Given the description of an element on the screen output the (x, y) to click on. 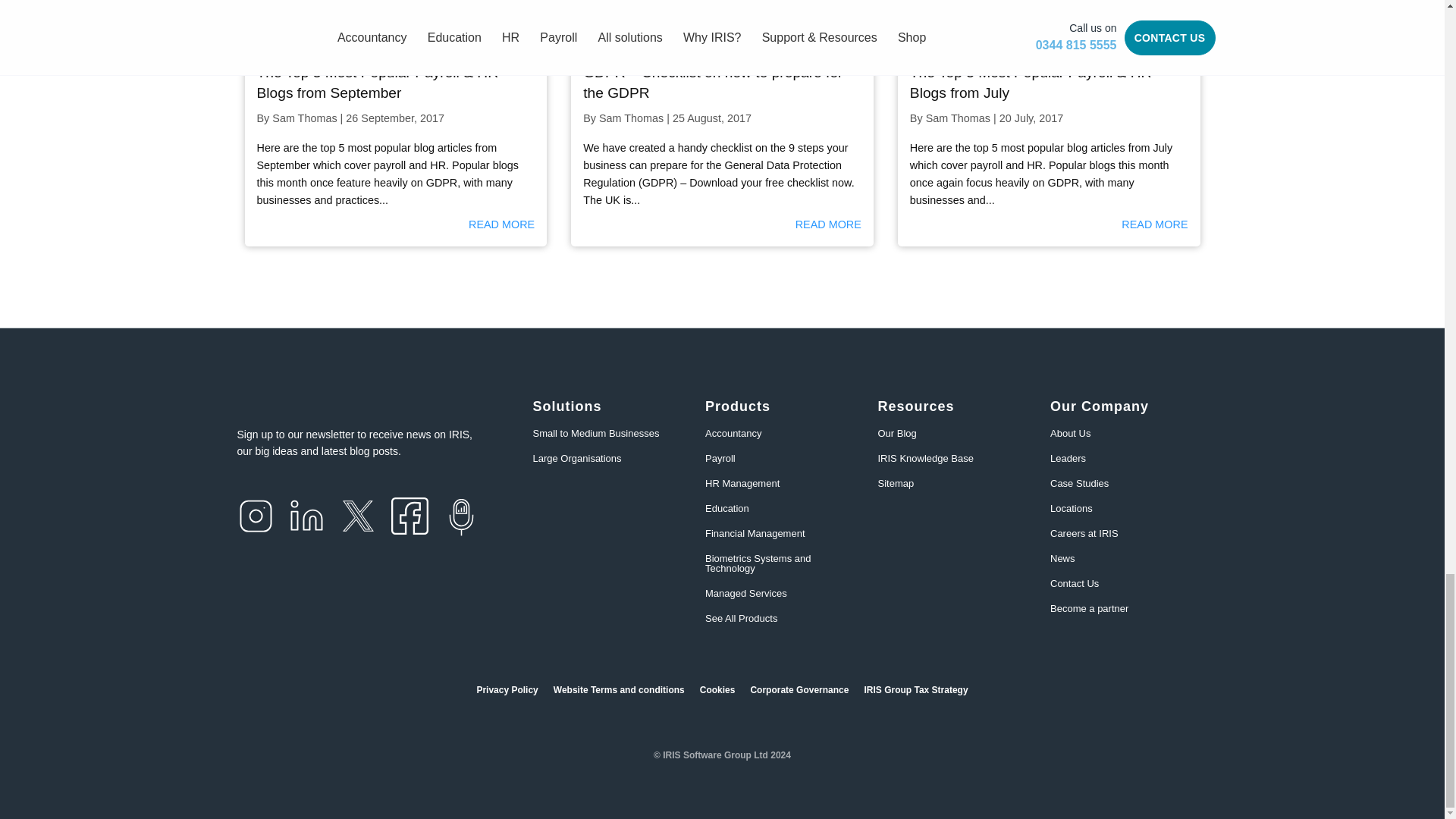
Follow IRIS Podcasts IRIS Software Group Podcasts (461, 517)
